Given the description of an element on the screen output the (x, y) to click on. 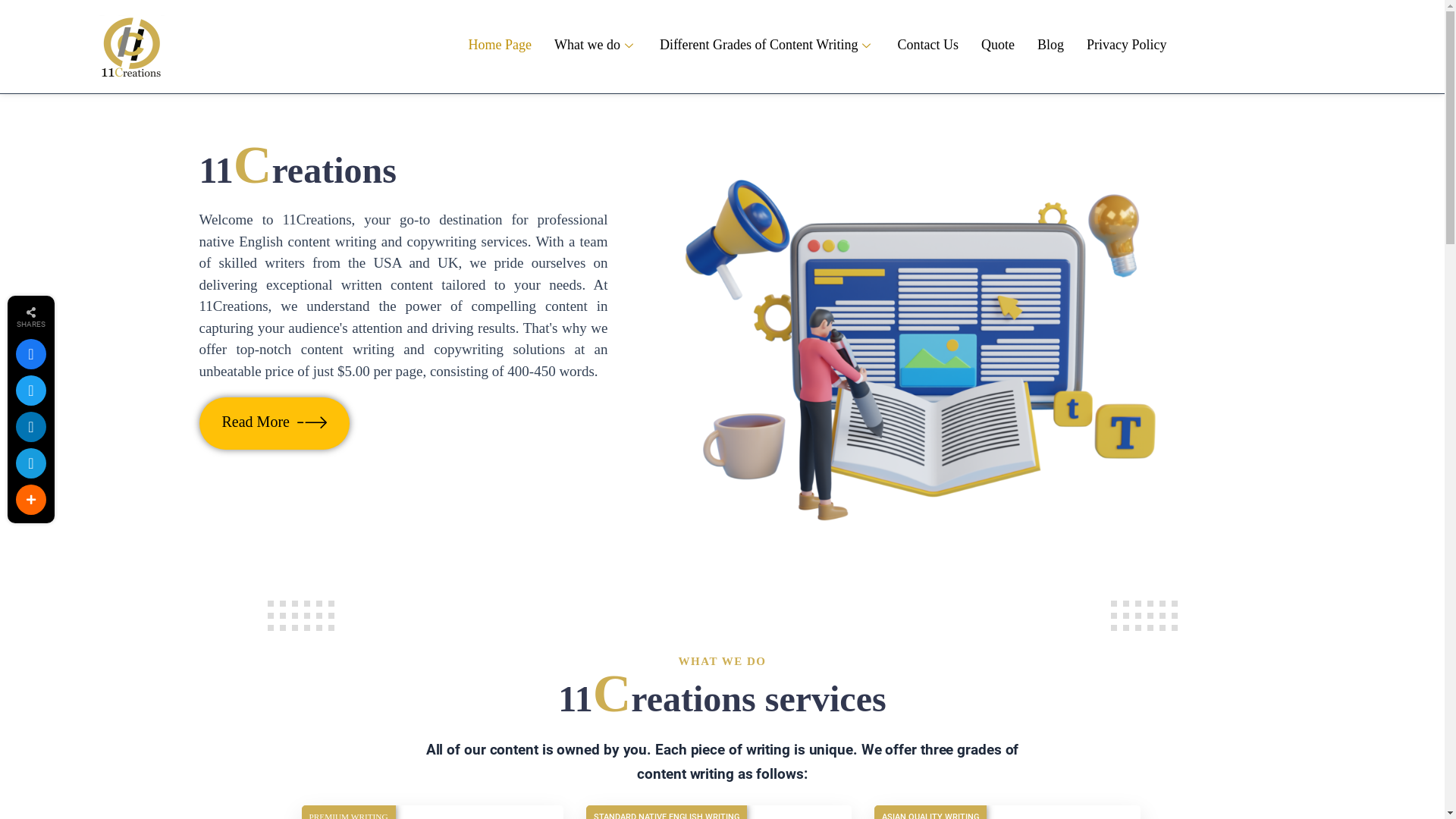
More share links Element type: hover (30, 499)
Quote Element type: text (997, 45)
Read More Element type: text (273, 423)
Different Grades of Content Writing Element type: text (767, 45)
Add this to LinkedIn Element type: hover (30, 426)
Telegram Element type: hover (30, 463)
Contact Us Element type: text (927, 45)
Home Page Element type: text (499, 45)
https://twitter.com/@11creation Element type: hover (30, 390)
Share this on Facebook Element type: hover (30, 353)
Blog Element type: text (1050, 45)
What we do Element type: text (595, 45)
Privacy Policy Element type: text (1126, 45)
